Given the description of an element on the screen output the (x, y) to click on. 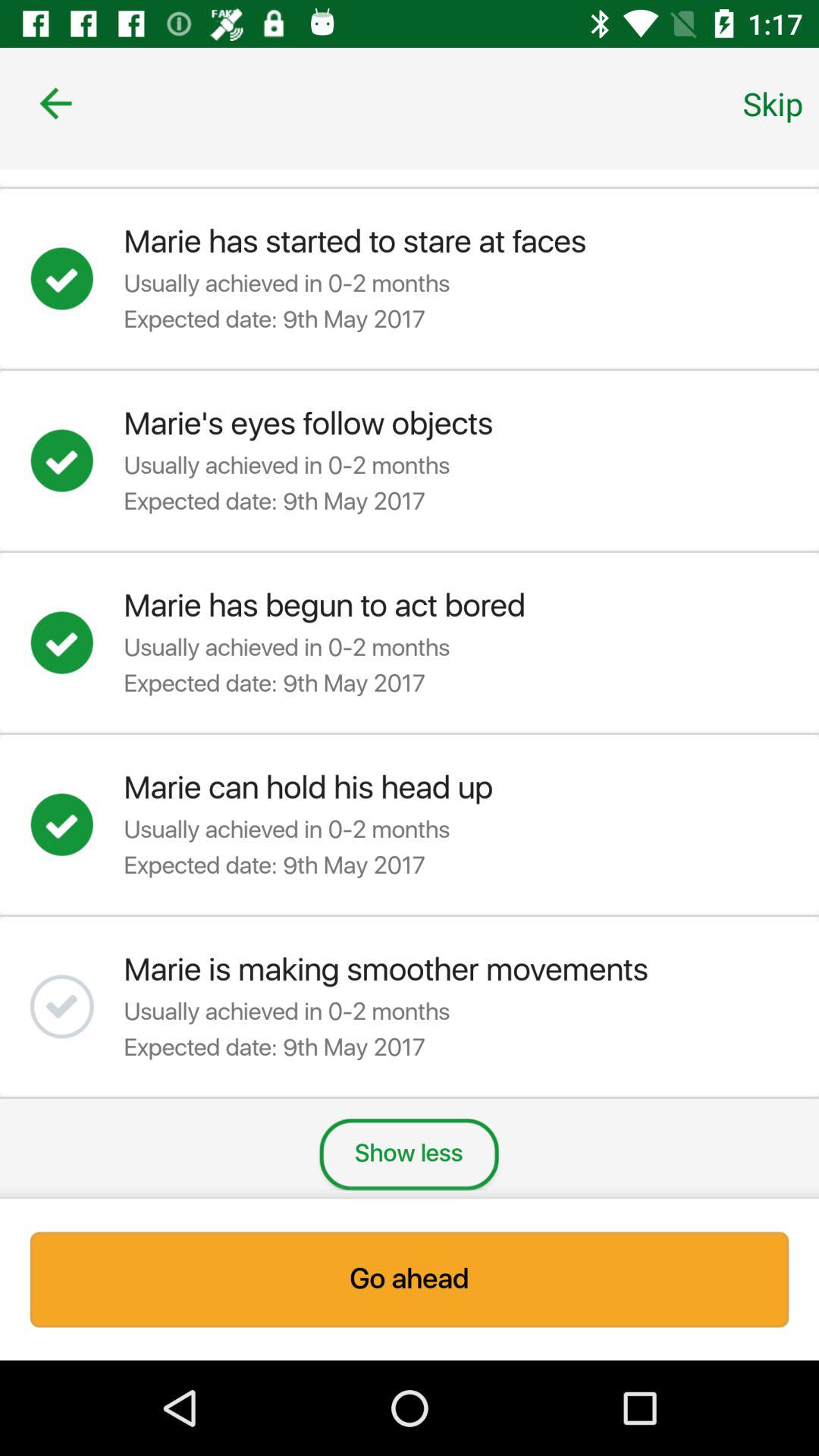
tap the icon above go ahead item (408, 1154)
